Given the description of an element on the screen output the (x, y) to click on. 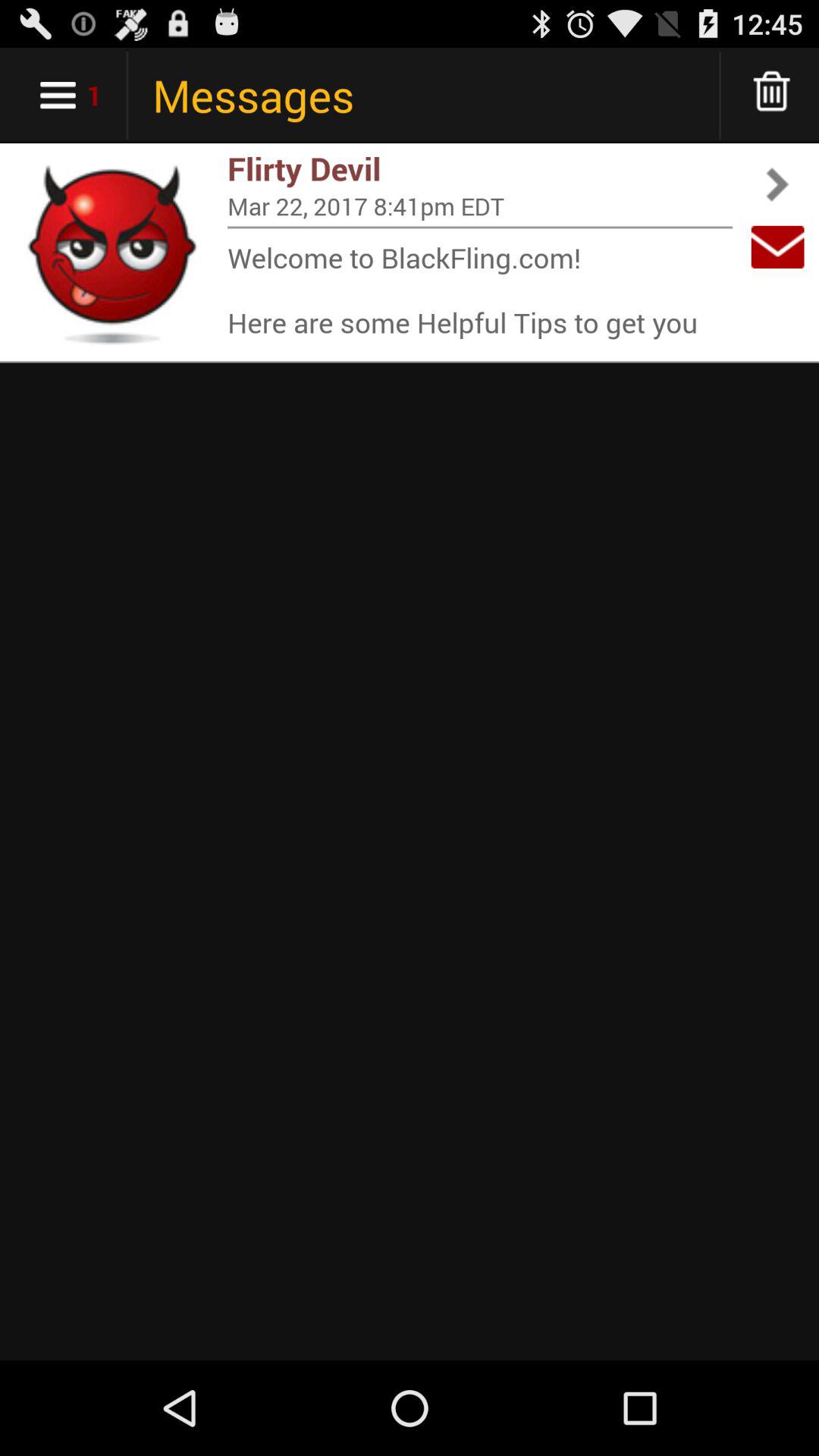
delete the page (772, 95)
